Given the description of an element on the screen output the (x, y) to click on. 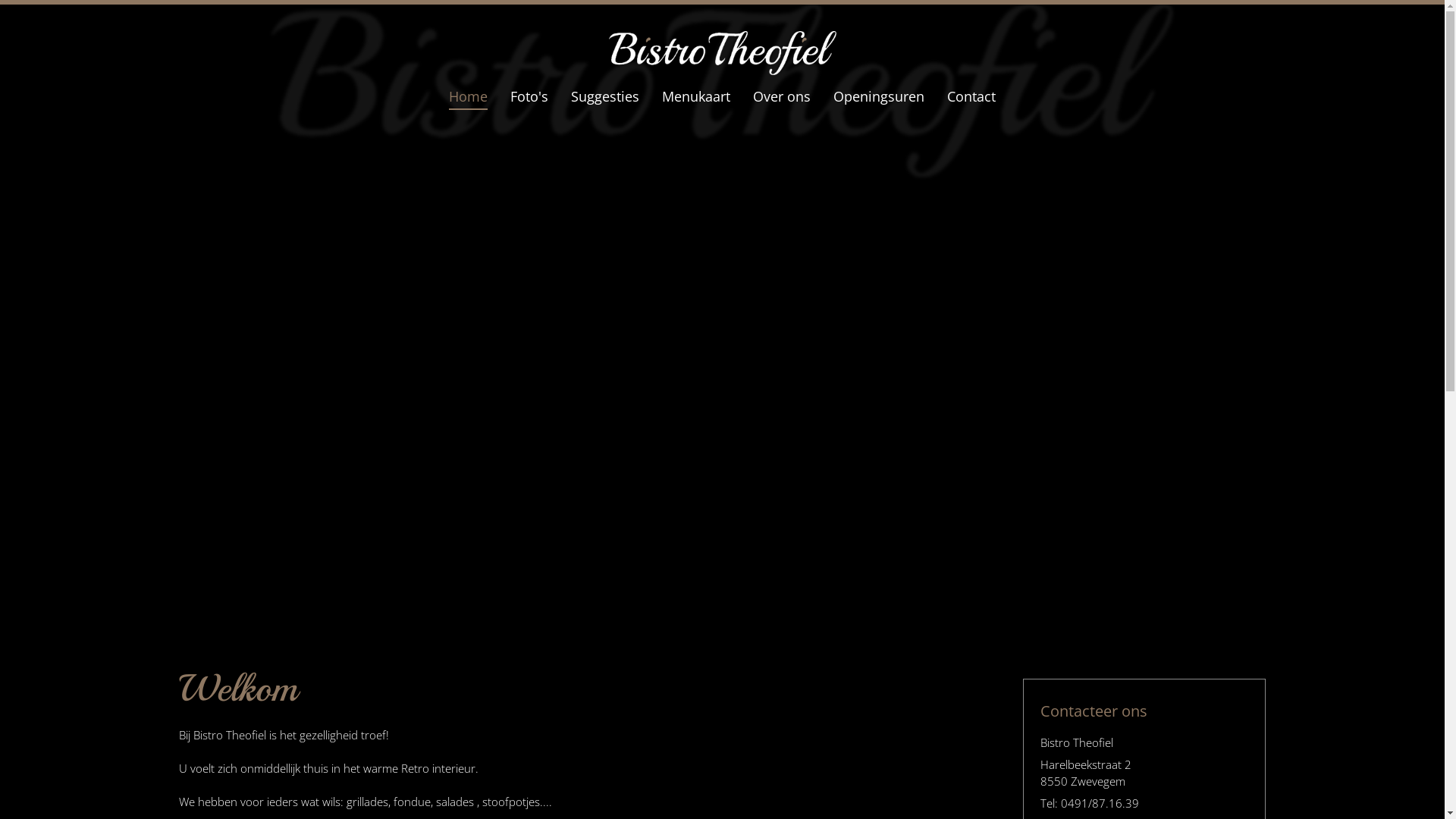
Menukaart Element type: text (696, 94)
Suggesties Element type: text (605, 94)
Openingsuren Element type: text (878, 94)
Over ons Element type: text (781, 94)
Foto's Element type: text (529, 94)
Contact Element type: text (971, 94)
Home Element type: text (467, 94)
